Given the description of an element on the screen output the (x, y) to click on. 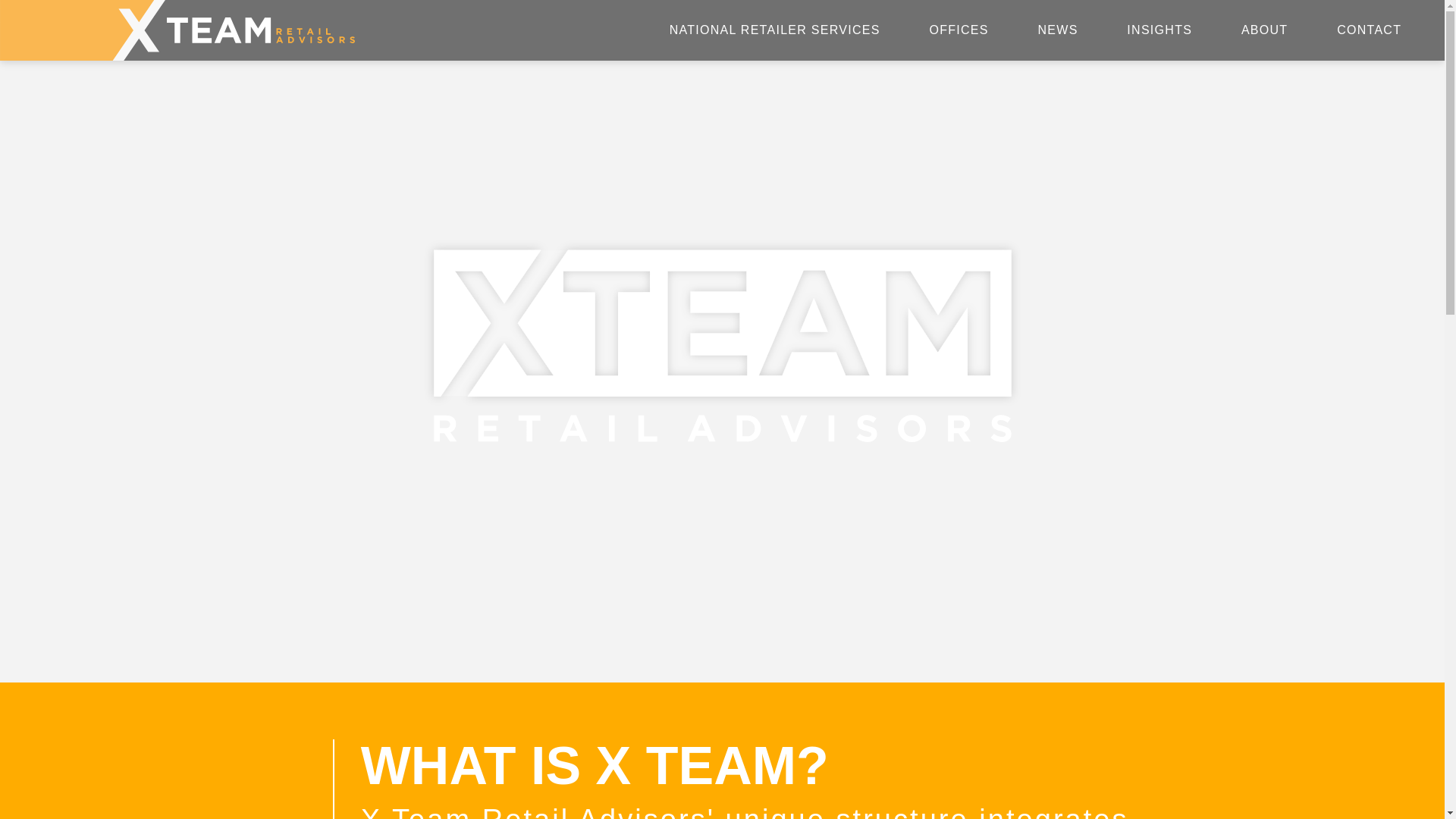
INSIGHTS (1158, 30)
ABOUT (1263, 30)
NATIONAL RETAILER SERVICES (774, 30)
CONTACT (1368, 30)
OFFICES (957, 30)
NEWS (1056, 30)
